Given the description of an element on the screen output the (x, y) to click on. 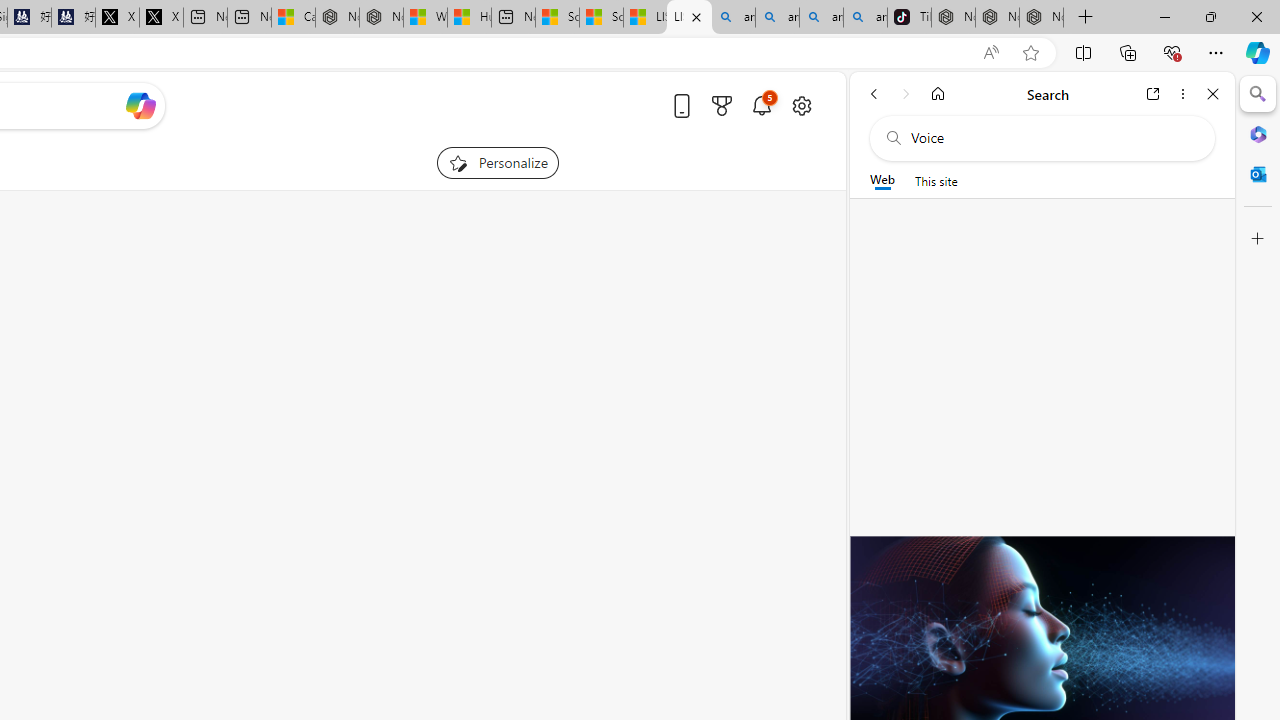
Outlook (1258, 174)
TikTok (909, 17)
amazon - Search (777, 17)
Nordace - Best Sellers (953, 17)
Microsoft rewards (721, 105)
Huge shark washes ashore at New York City beach | Watch (469, 17)
